Given the description of an element on the screen output the (x, y) to click on. 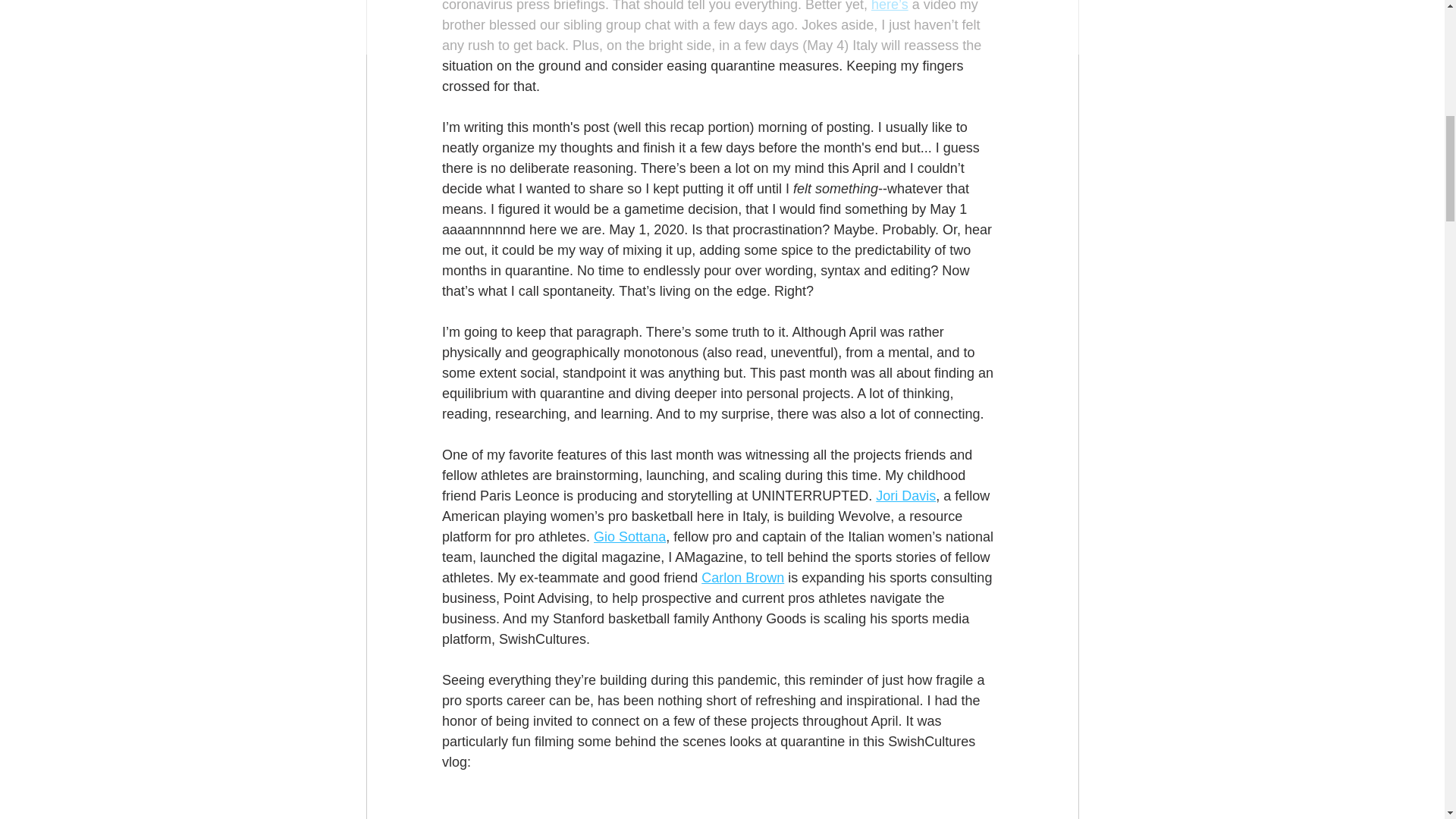
Carlon Brown (742, 577)
Jori Davis (906, 495)
Gio Sottana (629, 536)
